Given the description of an element on the screen output the (x, y) to click on. 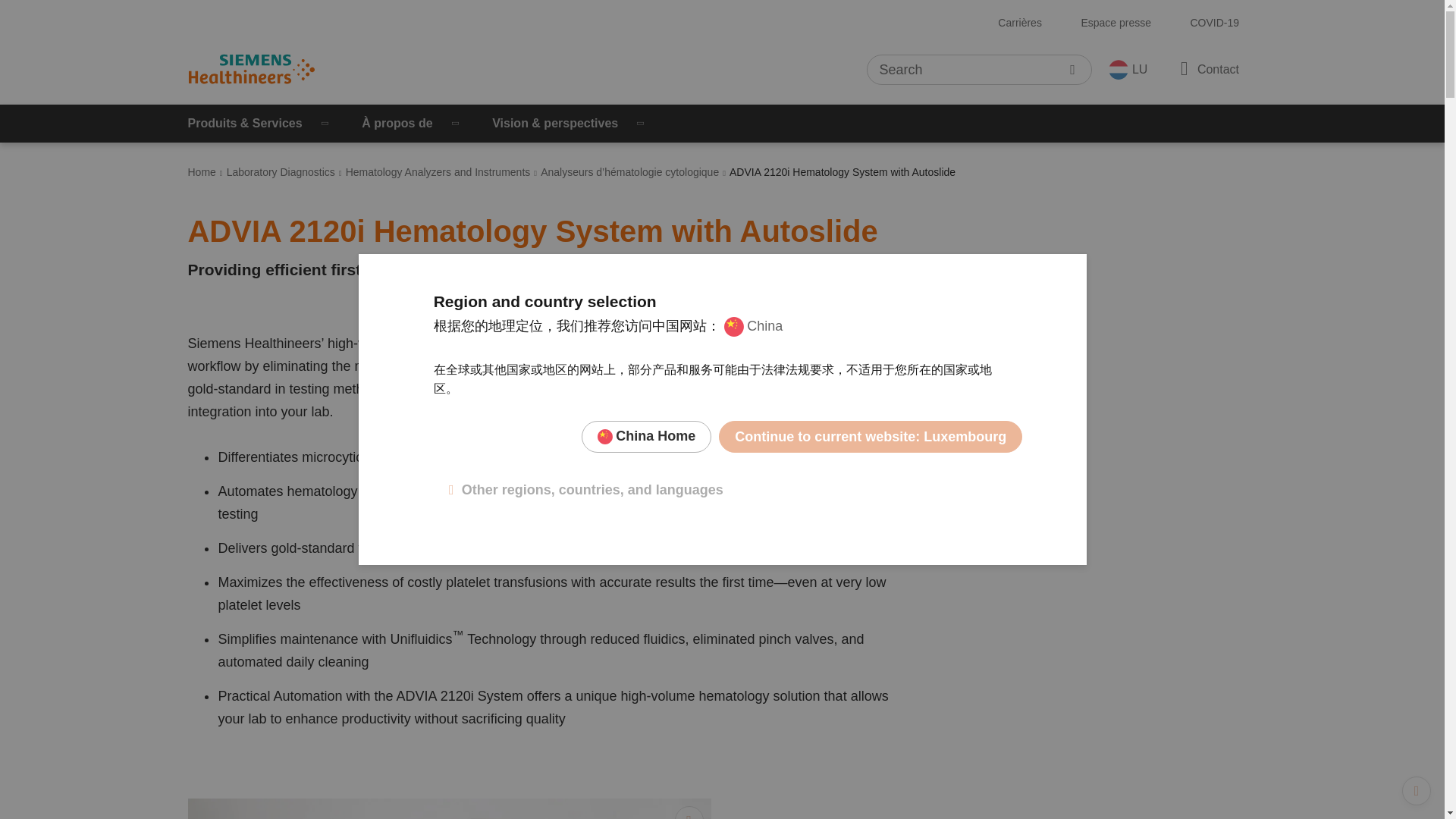
Hematology Analyzers and Instruments (438, 172)
Contact (1206, 69)
Home (201, 172)
Laboratory Diagnostics (280, 172)
China Home (645, 436)
China (753, 325)
COVID-19 (1214, 22)
Continue to current website: Luxembourg (870, 436)
Espace presse (1115, 22)
LU (1127, 69)
